Given the description of an element on the screen output the (x, y) to click on. 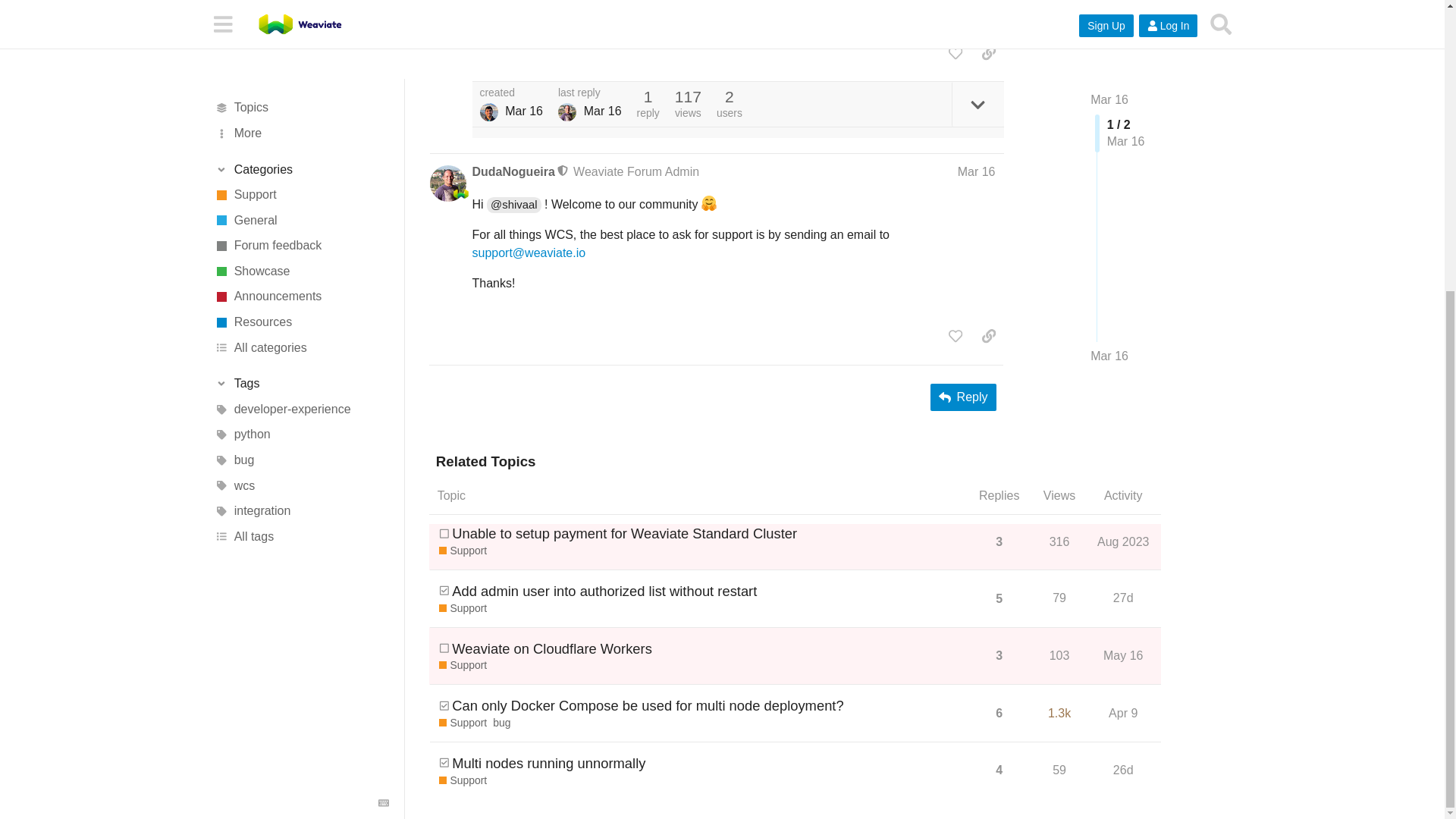
integration (301, 68)
wcs (301, 43)
All tags (301, 94)
bug (301, 17)
Keyboard Shortcuts (384, 360)
python (301, 2)
